Given the description of an element on the screen output the (x, y) to click on. 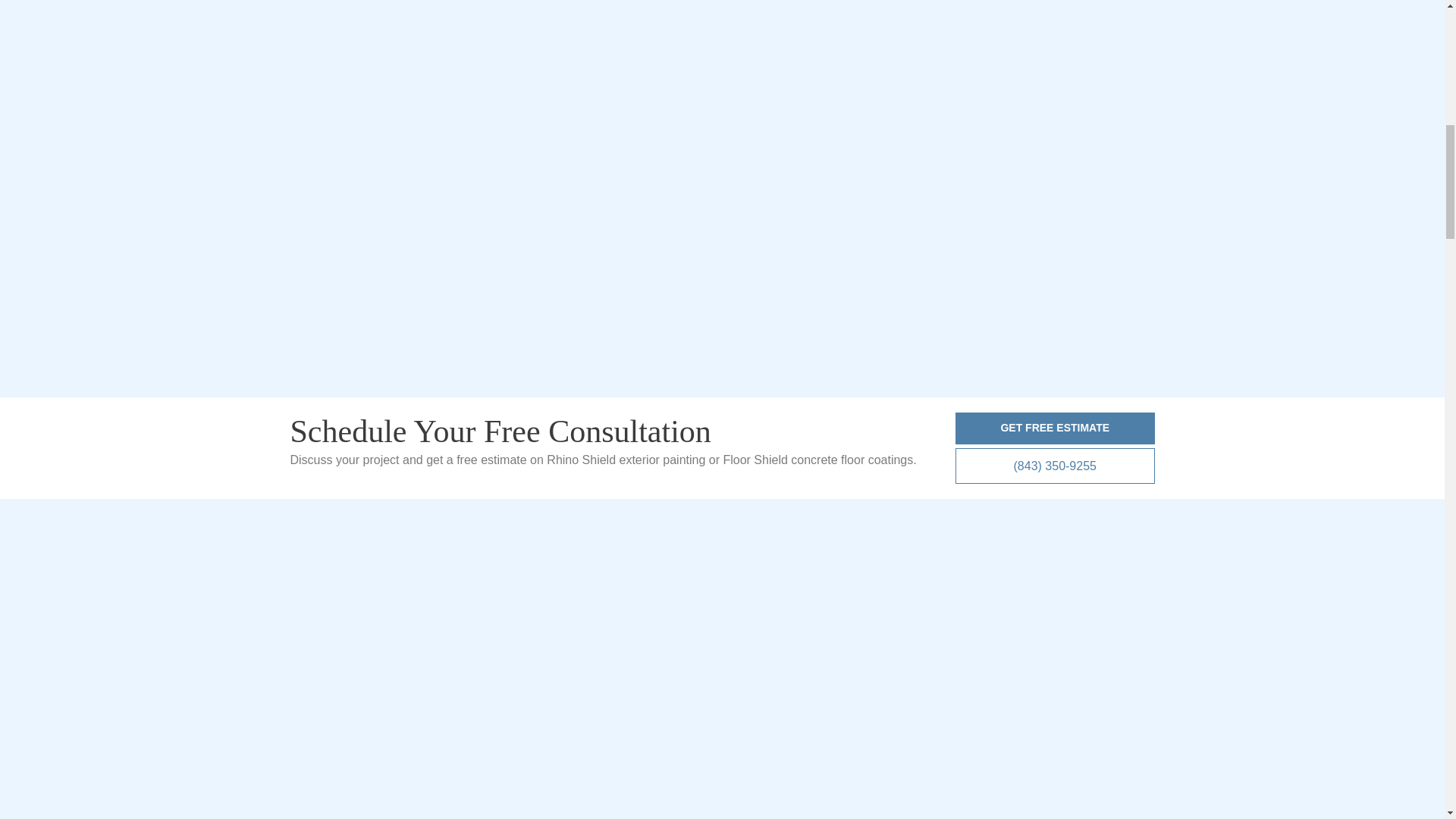
GET FREE ESTIMATE (1054, 428)
